Given the description of an element on the screen output the (x, y) to click on. 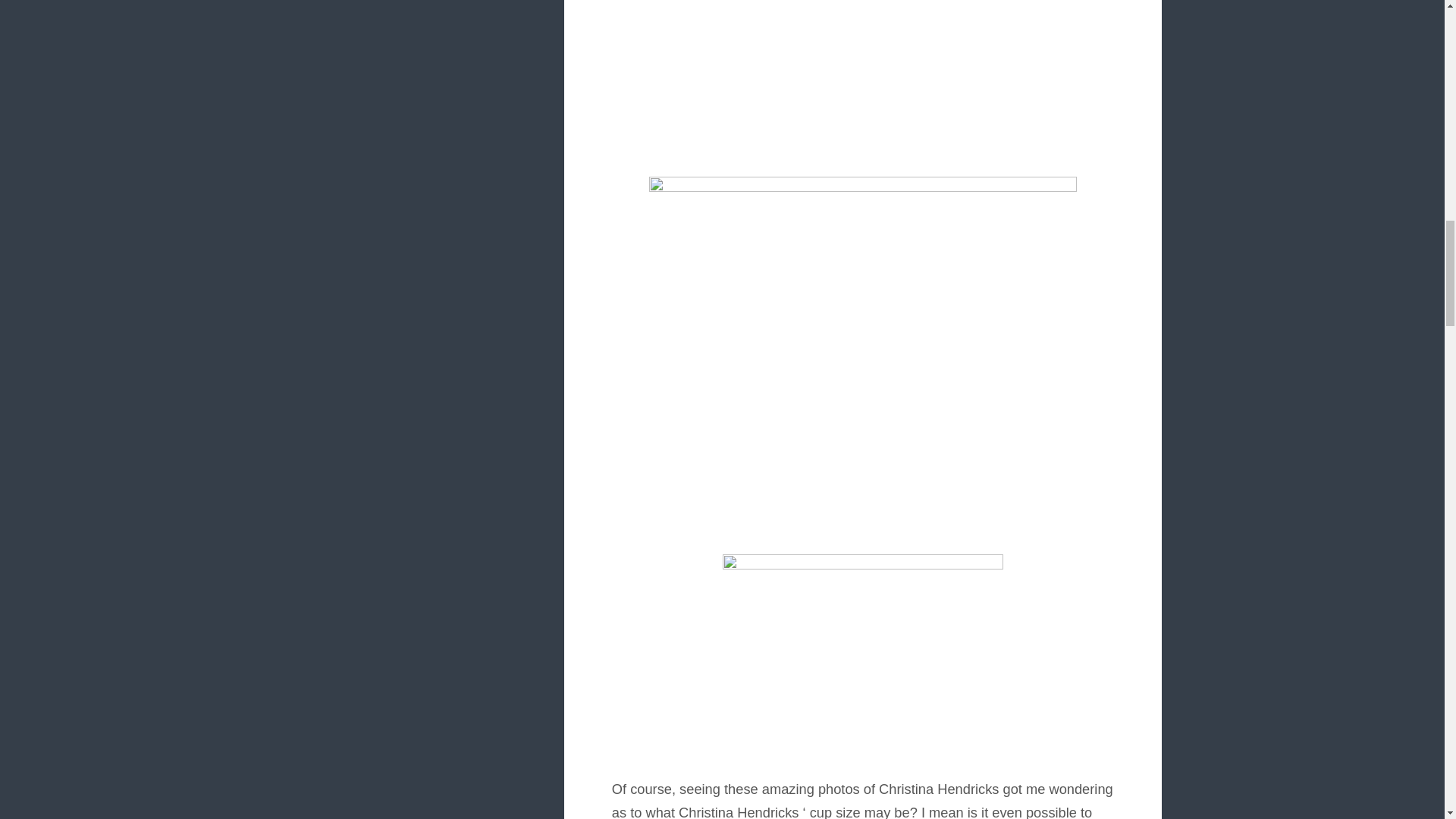
Jiggling (862, 80)
